Given the description of an element on the screen output the (x, y) to click on. 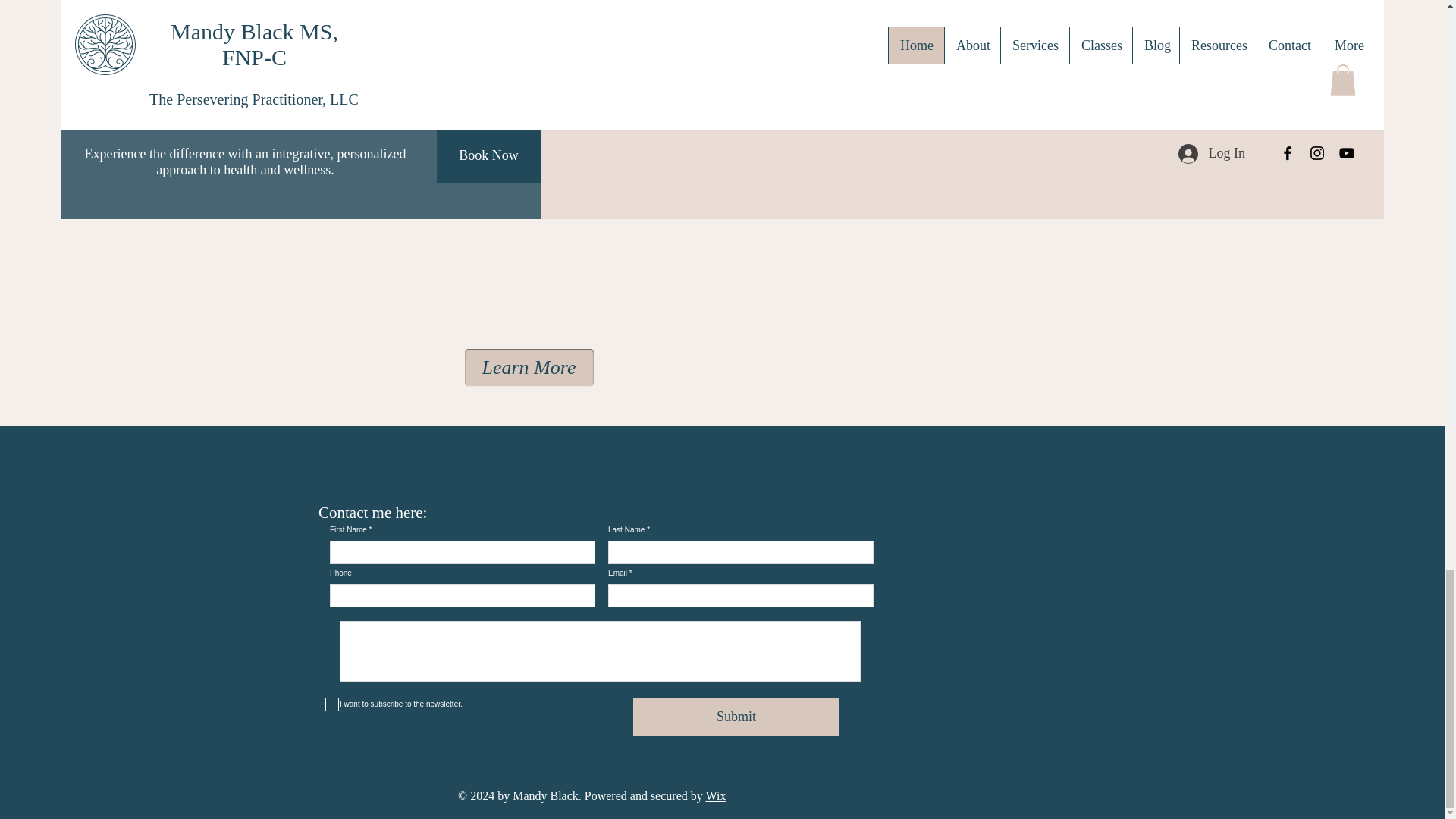
Wix (714, 795)
Submit (736, 716)
Learn More (528, 367)
